Given the description of an element on the screen output the (x, y) to click on. 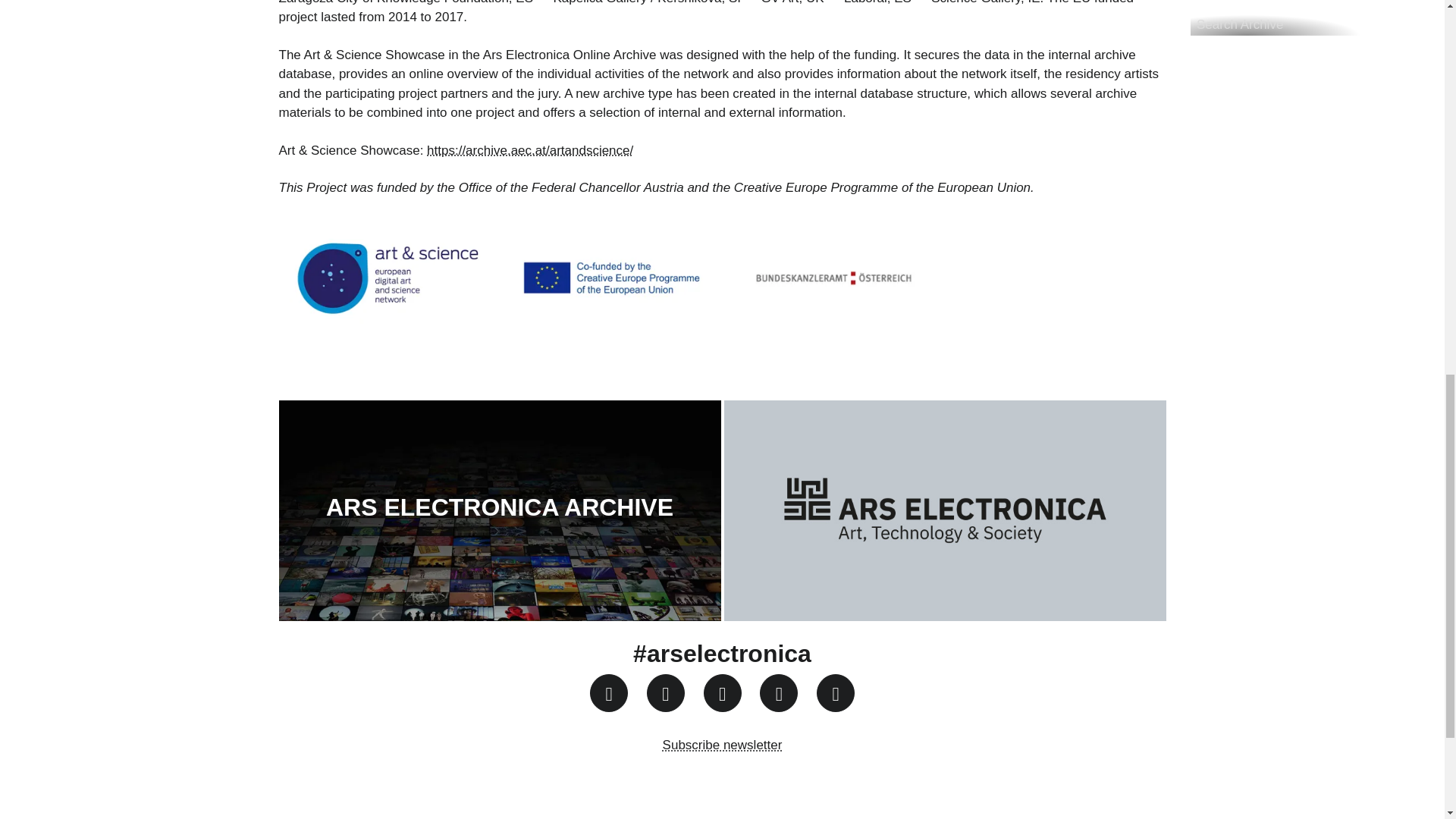
Facebook (665, 692)
YouTube (722, 692)
Instagram (608, 692)
